Given the description of an element on the screen output the (x, y) to click on. 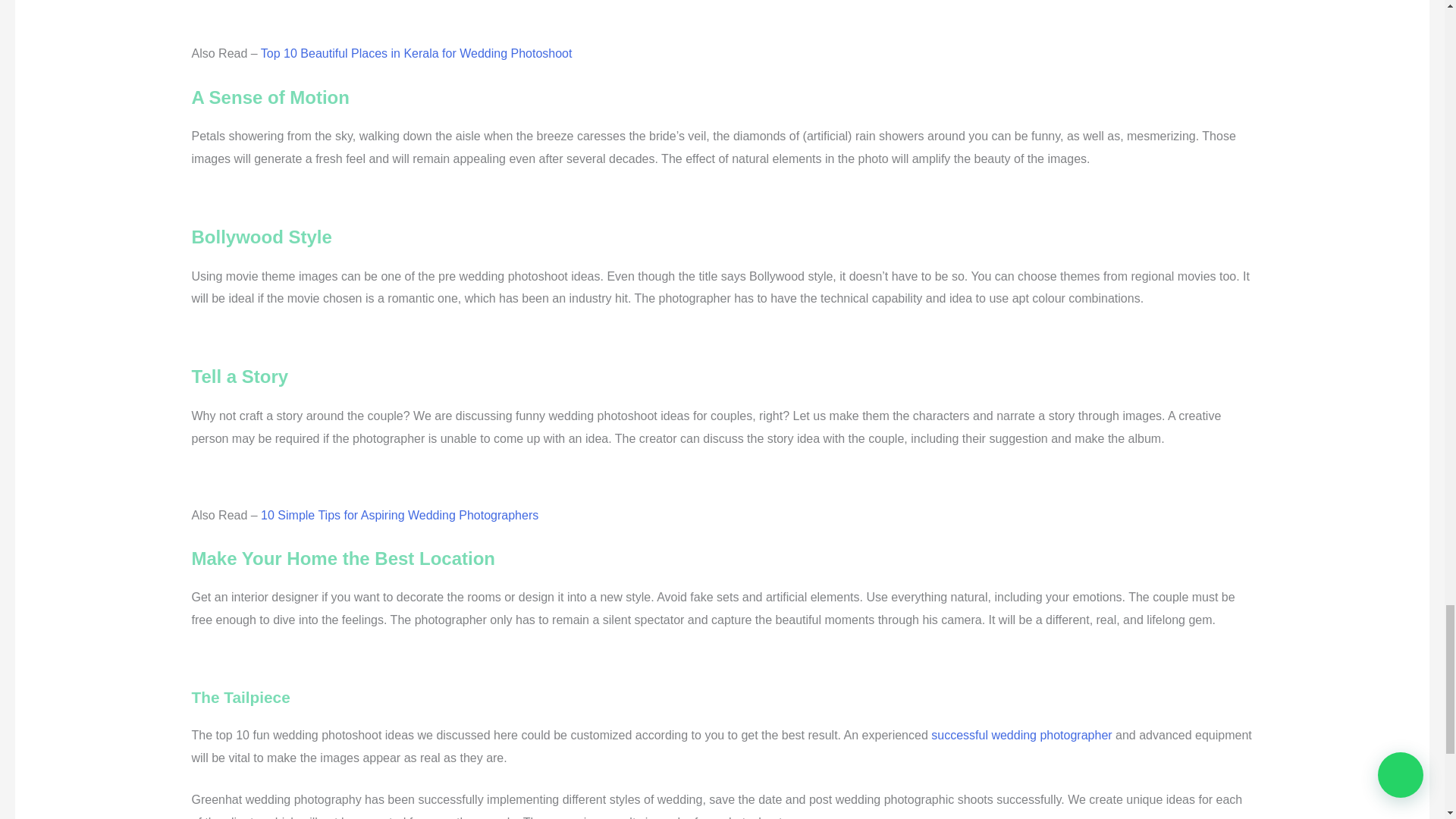
successful wedding photographer (1021, 735)
Top 10 Beautiful Places in Kerala for Wedding Photoshoot (416, 52)
10 Simple Tips for Aspiring Wedding Photographers (399, 514)
